Given the description of an element on the screen output the (x, y) to click on. 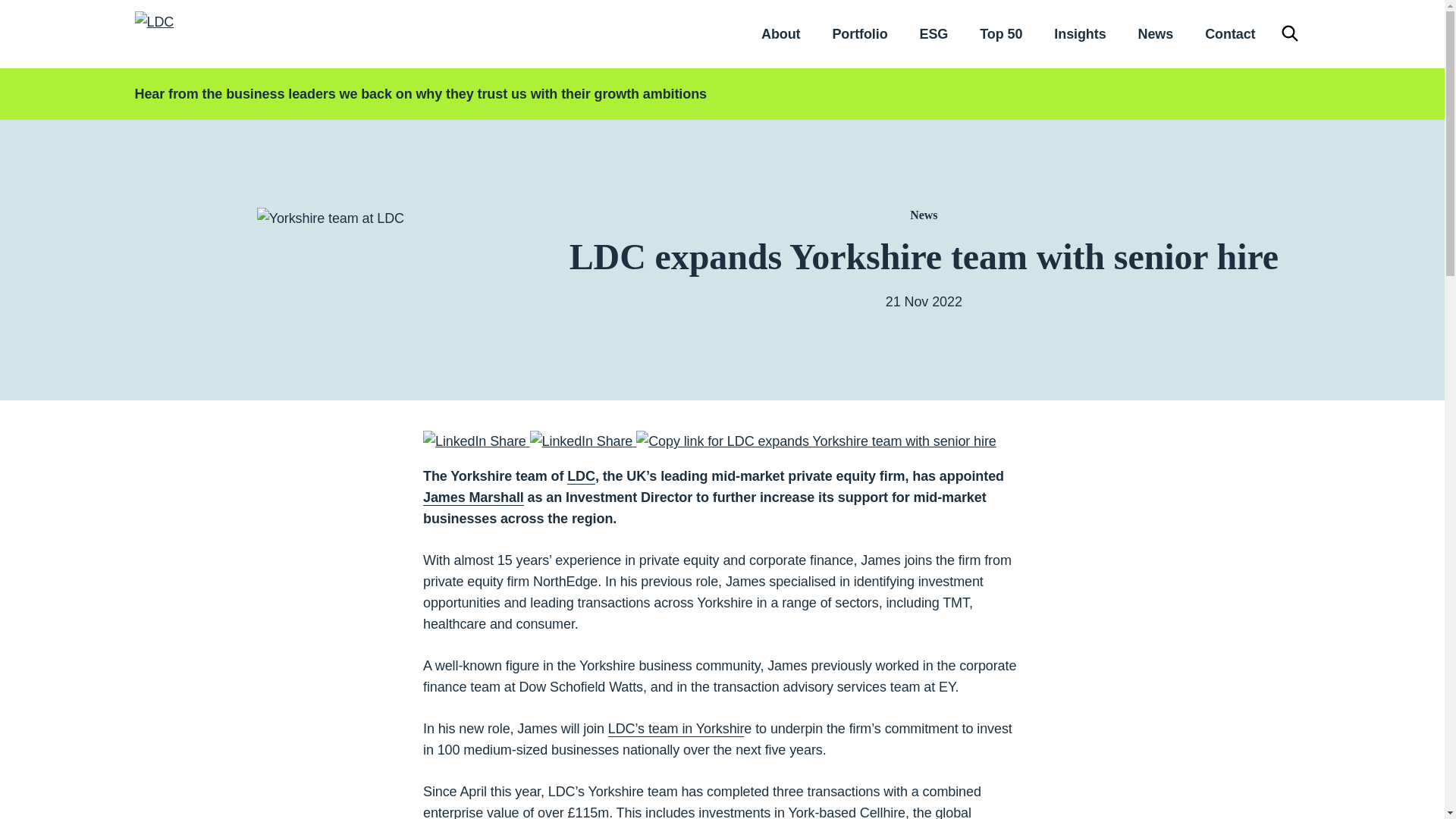
Portfolio (858, 33)
Top 50 (1000, 33)
About (780, 33)
ESG (933, 33)
